Given the description of an element on the screen output the (x, y) to click on. 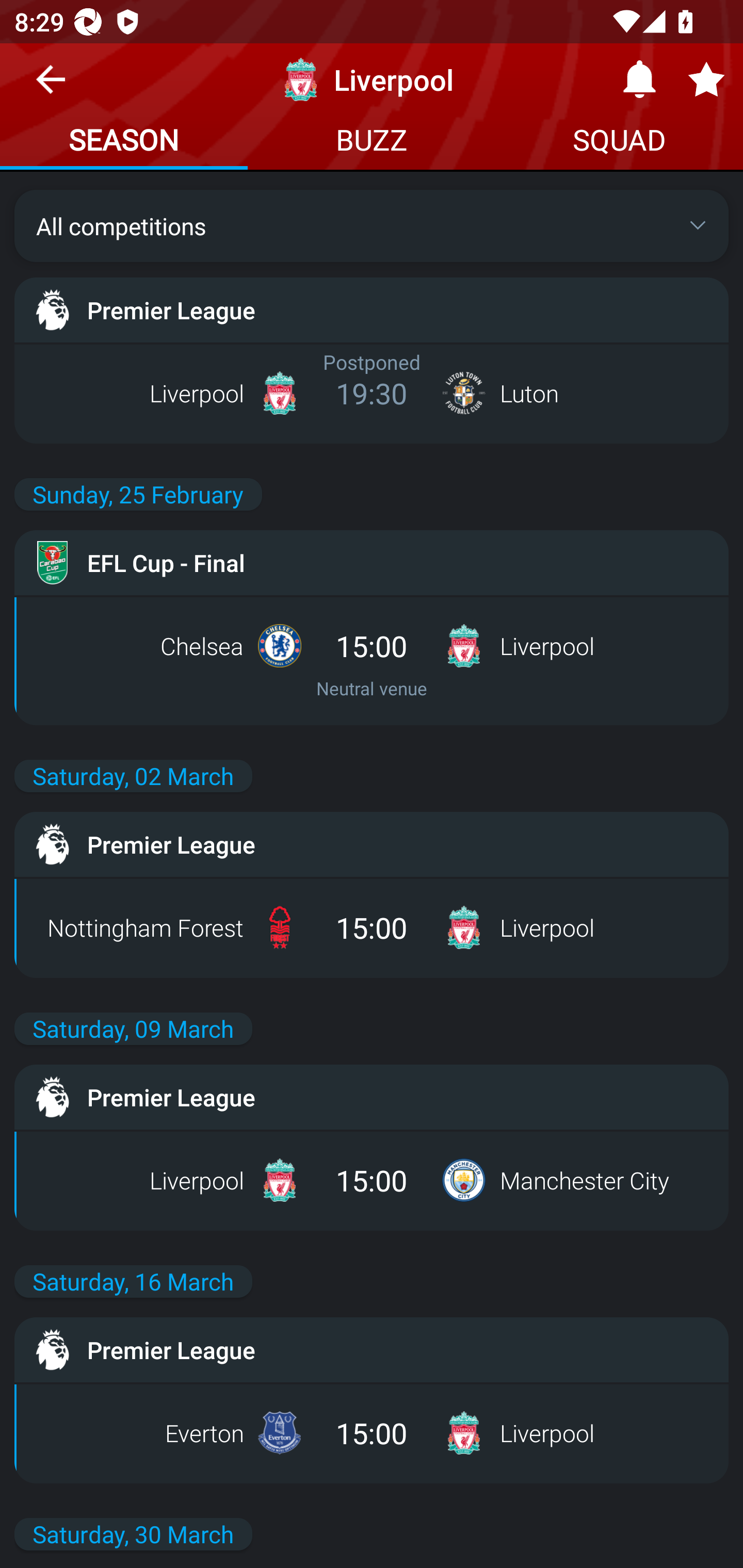
Navigate up (50, 86)
SEASON (123, 142)
BUZZ (371, 142)
SQUAD (619, 142)
All competitions (371, 225)
Premier League (371, 309)
Liverpool Postponed 19:30 Luton (371, 392)
EFL Cup - Final (371, 562)
Chelsea 15:00 Liverpool Neutral venue (371, 659)
Premier League (371, 844)
Nottingham Forest 15:00 Liverpool (371, 927)
Premier League (371, 1096)
Liverpool 15:00 Manchester City (371, 1179)
Premier League (371, 1349)
Everton 15:00 Liverpool (371, 1432)
